Given the description of an element on the screen output the (x, y) to click on. 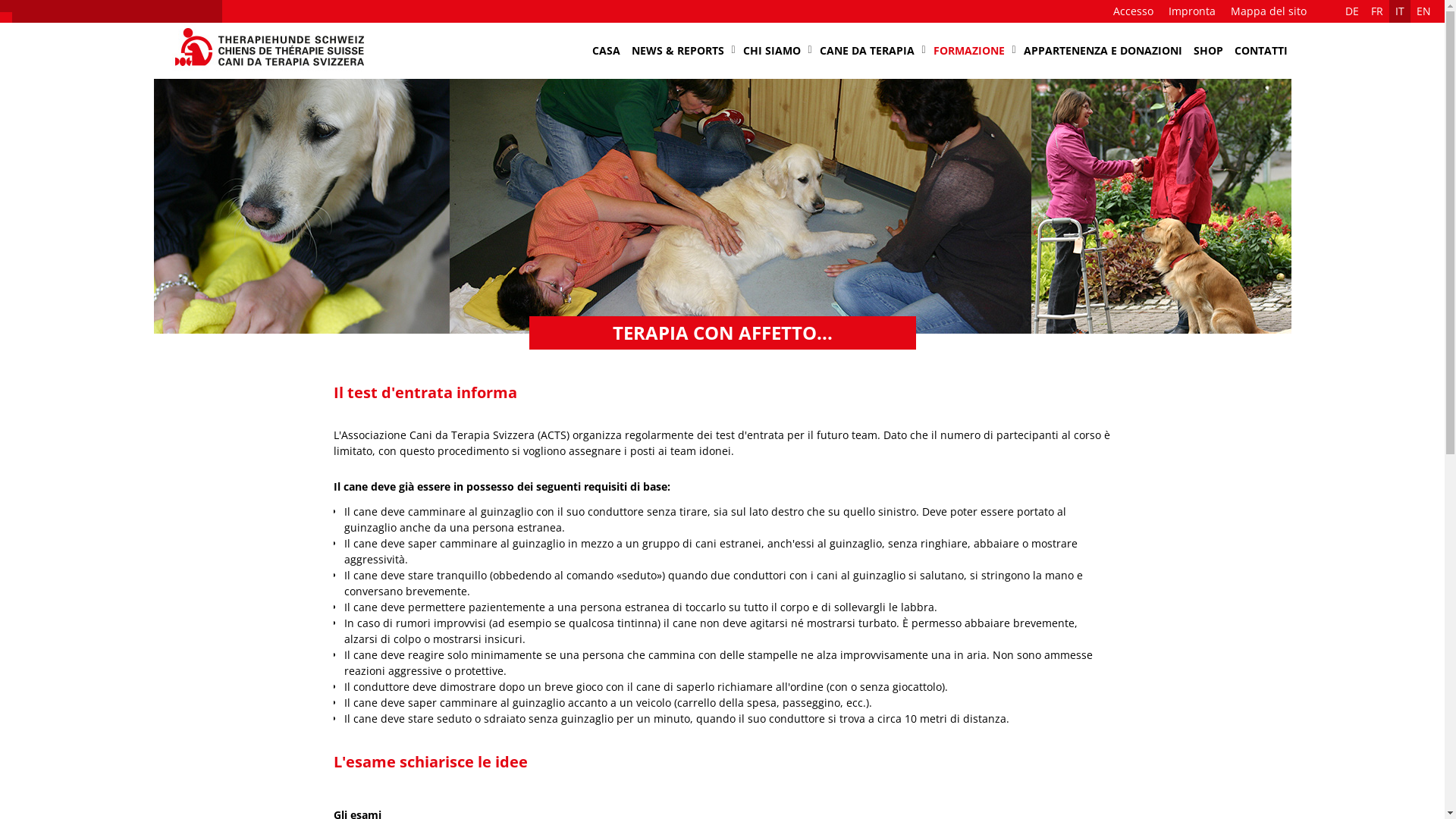
CANE DA TERAPIA Element type: text (866, 50)
SHOP Element type: text (1207, 50)
Impronta Element type: text (1191, 11)
FR Element type: text (1377, 11)
CHI SIAMO Element type: text (770, 50)
  Element type: text (1290, 21)
  Element type: text (1106, 21)
DE Element type: text (1352, 11)
FORMAZIONE Element type: text (968, 50)
Mappa del sito Element type: text (1268, 11)
CONTATTI Element type: text (1260, 50)
Cani da Terapia Svizzera Element type: hover (258, 72)
APPARTENENZA E DONAZIONI Element type: text (1102, 50)
CASA Element type: text (606, 50)
EN Element type: text (1423, 11)
Salta la navigazione Element type: text (583, 21)
Accesso Element type: text (1133, 11)
NEWS & REPORTS Element type: text (677, 50)
